Given the description of an element on the screen output the (x, y) to click on. 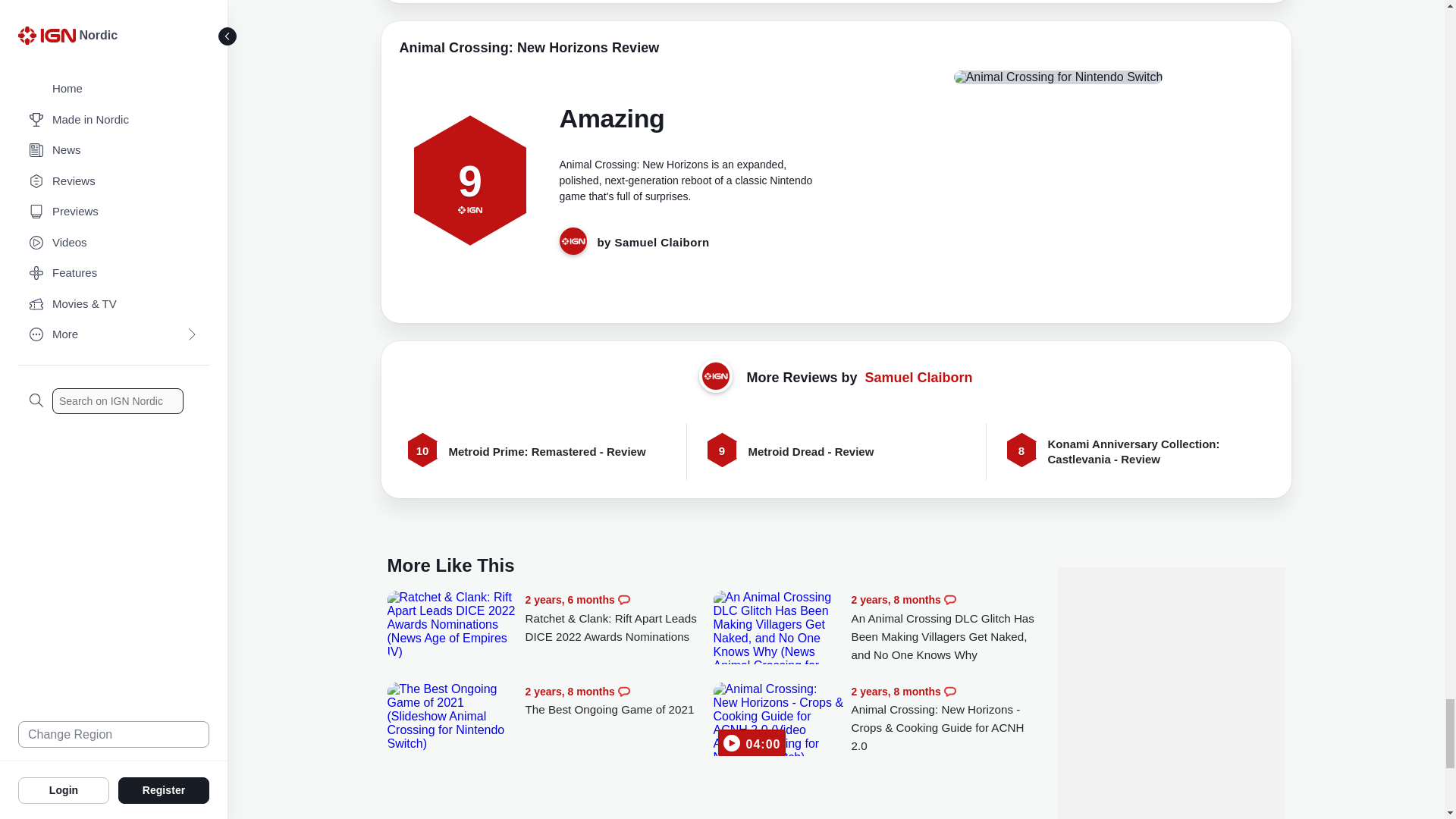
Comments (623, 599)
Comments (949, 599)
Comments (623, 691)
The Best Ongoing Game of 2021 (451, 716)
The Best Ongoing Game of 2021 (618, 700)
